Given the description of an element on the screen output the (x, y) to click on. 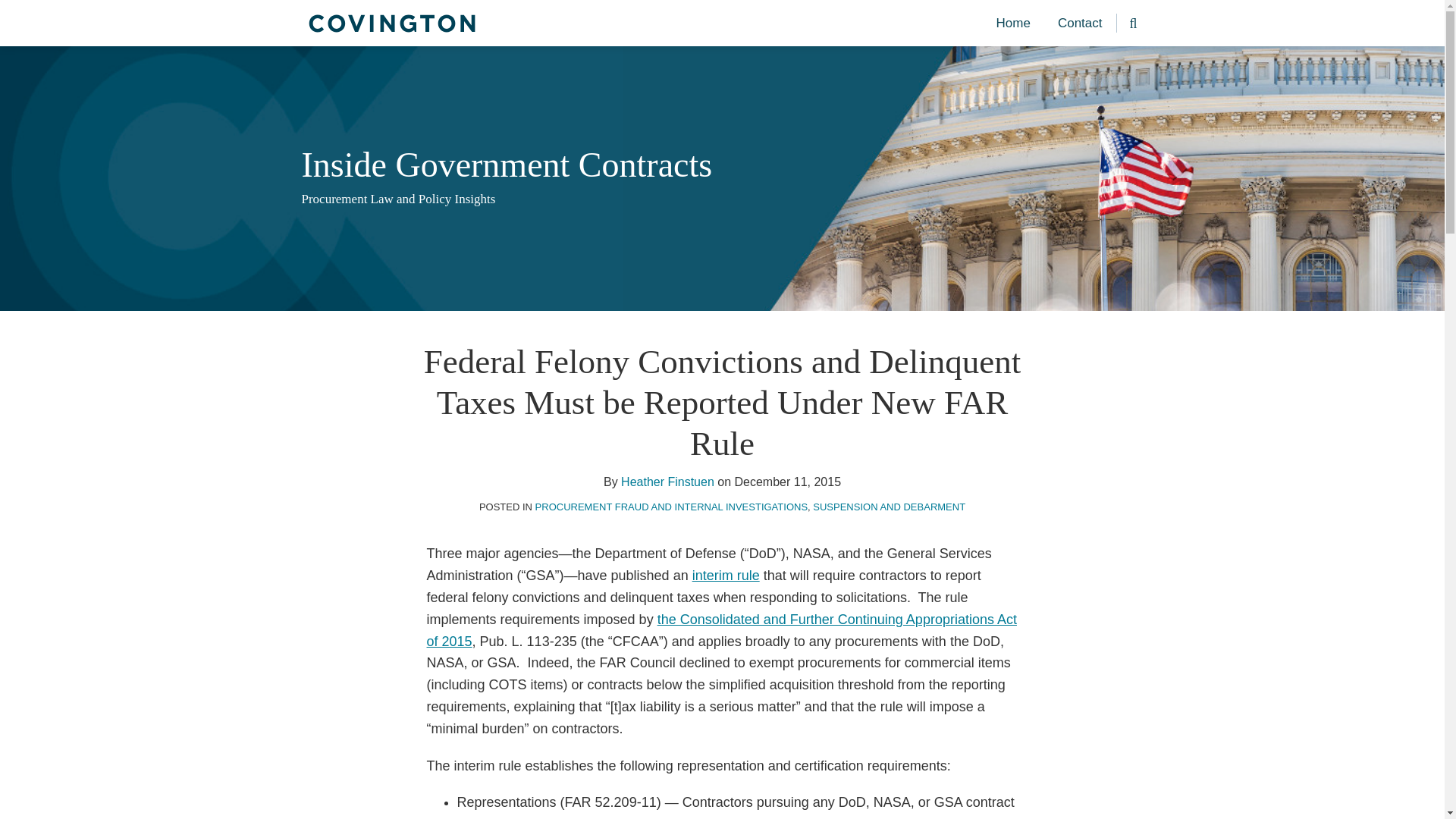
Heather Finstuen (667, 481)
PROCUREMENT FRAUD AND INTERNAL INVESTIGATIONS (671, 506)
interim rule (726, 575)
SUSPENSION AND DEBARMENT (888, 506)
Home (1012, 23)
Inside Government Contracts (507, 164)
Contact (1080, 23)
